Given the description of an element on the screen output the (x, y) to click on. 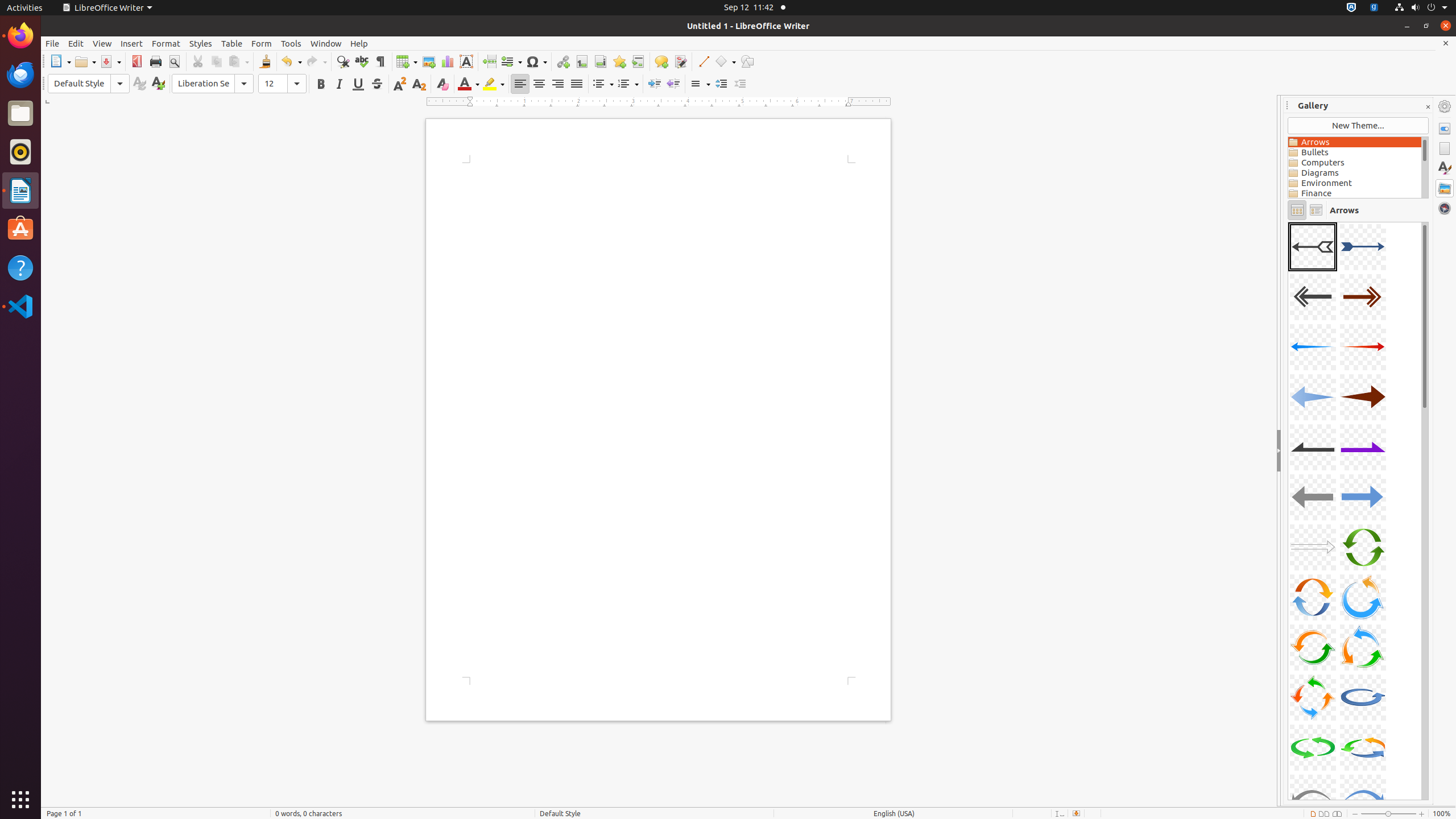
Right Element type: toggle-button (557, 83)
Decrease Element type: push-button (739, 83)
Highlight Color Element type: push-button (493, 83)
Endnote Element type: push-button (599, 61)
New Theme Element type: push-button (1357, 125)
